Given the description of an element on the screen output the (x, y) to click on. 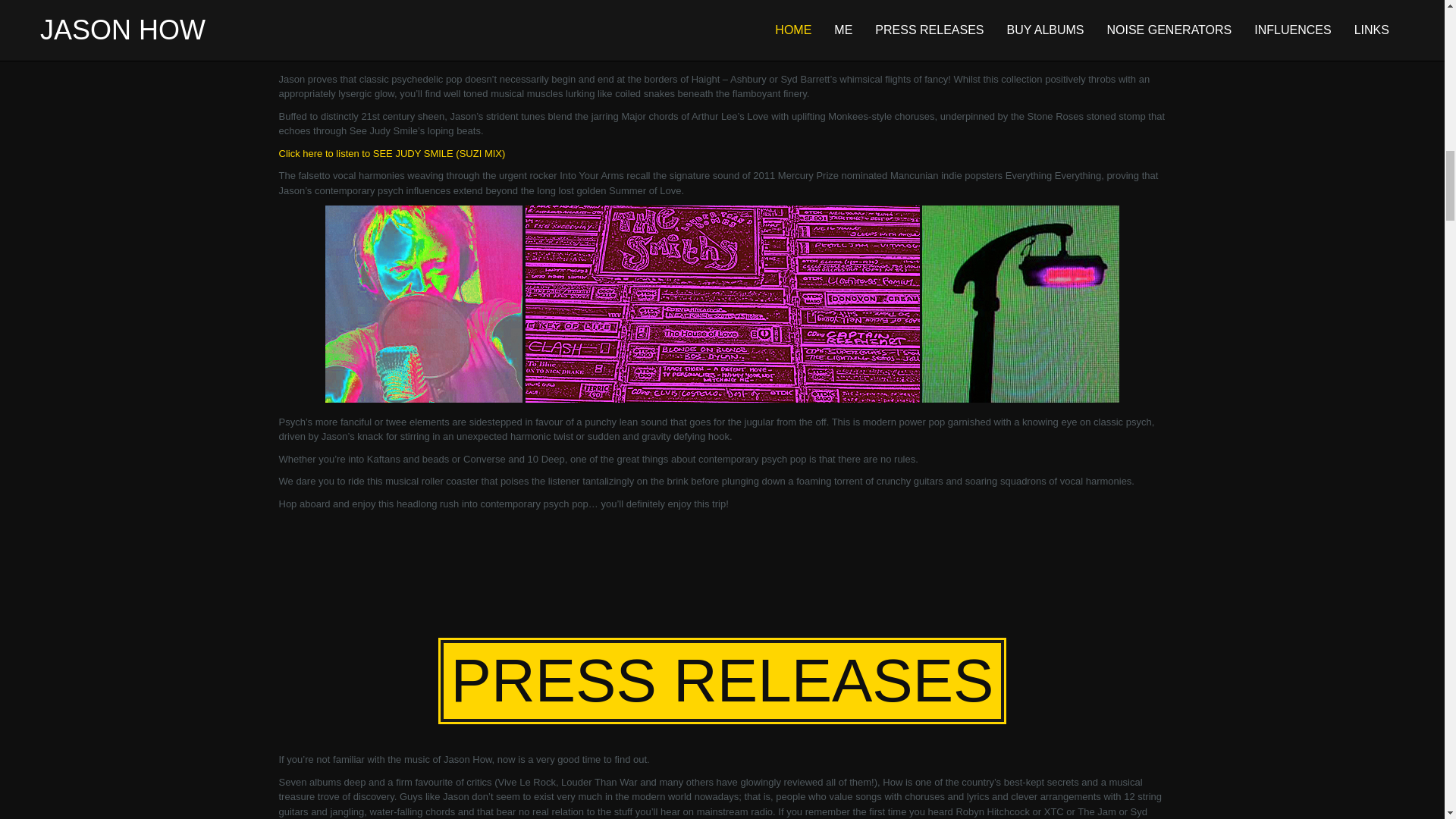
Jason How (392, 152)
